Given the description of an element on the screen output the (x, y) to click on. 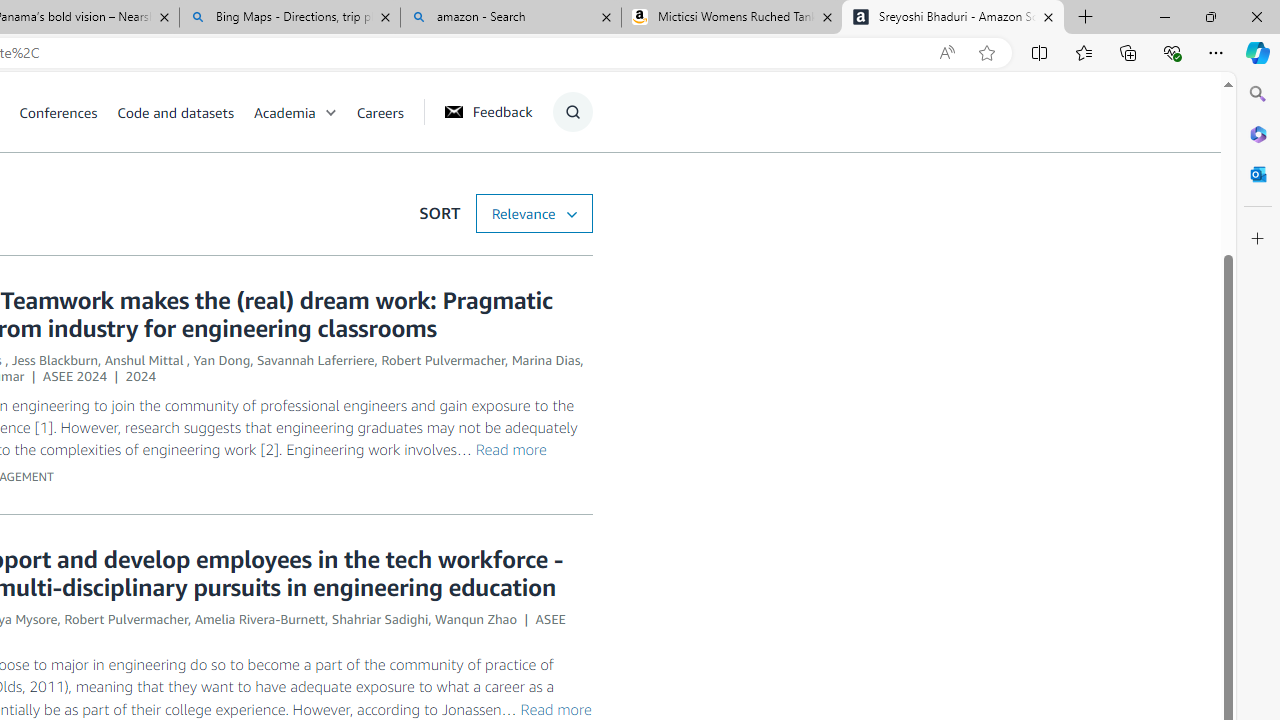
Jess Blackburn (54, 360)
Class: icon-magnify (571, 111)
Yan Dong (221, 360)
Marina Dias (545, 360)
SORT (533, 213)
Shahriar Sadighi (379, 619)
Code and datasets (184, 111)
Robert Pulvermacher (126, 619)
Academia (284, 111)
Conferences (68, 111)
